Given the description of an element on the screen output the (x, y) to click on. 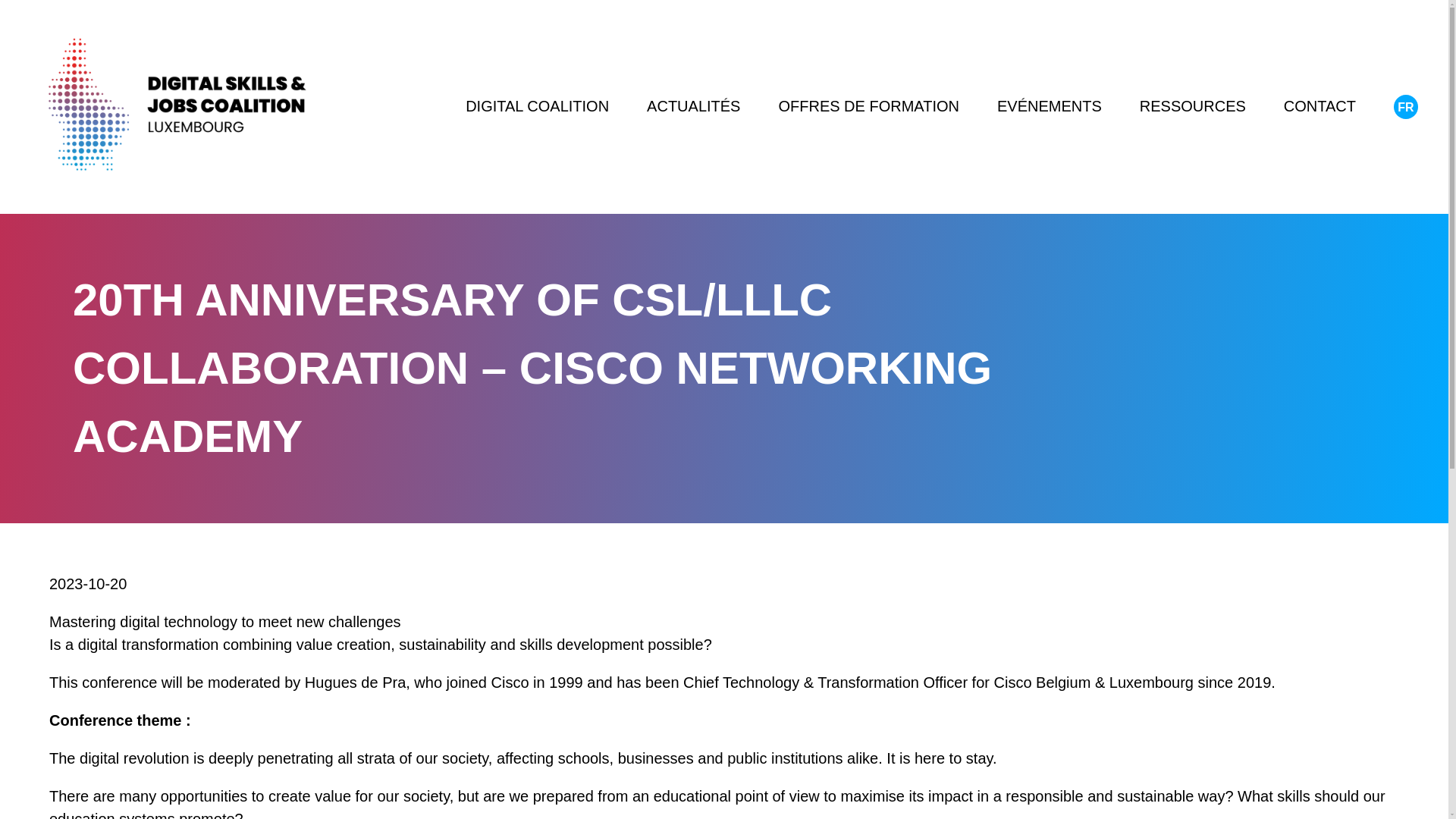
DIGITAL COALITION (536, 106)
RESSOURCES (1193, 106)
CONTACT (1319, 106)
FR (1405, 106)
FR (1405, 106)
OFFRES DE FORMATION (868, 106)
